Given the description of an element on the screen output the (x, y) to click on. 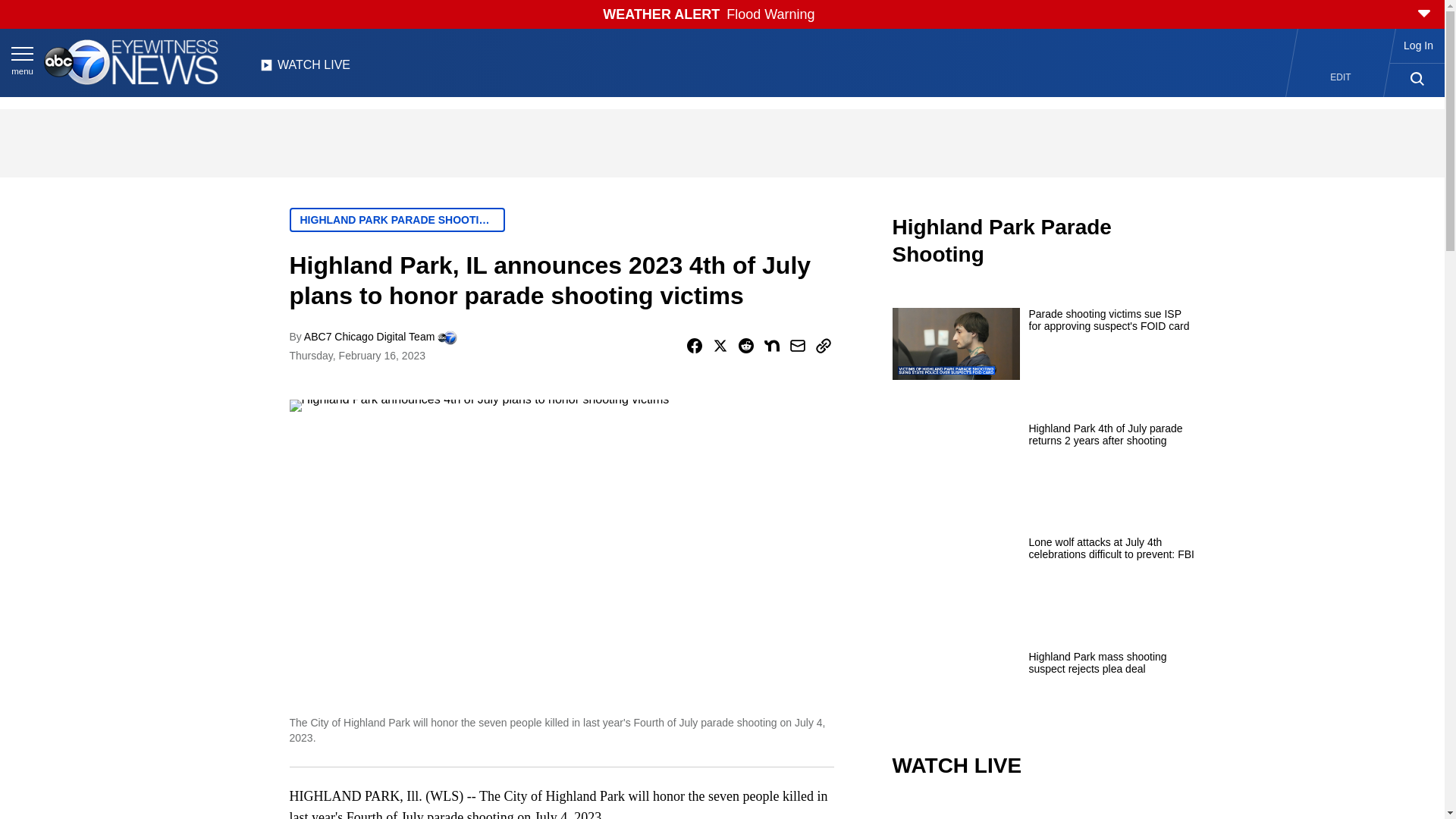
WATCH LIVE (305, 69)
EDIT (1340, 77)
video.title (1043, 809)
